Given the description of an element on the screen output the (x, y) to click on. 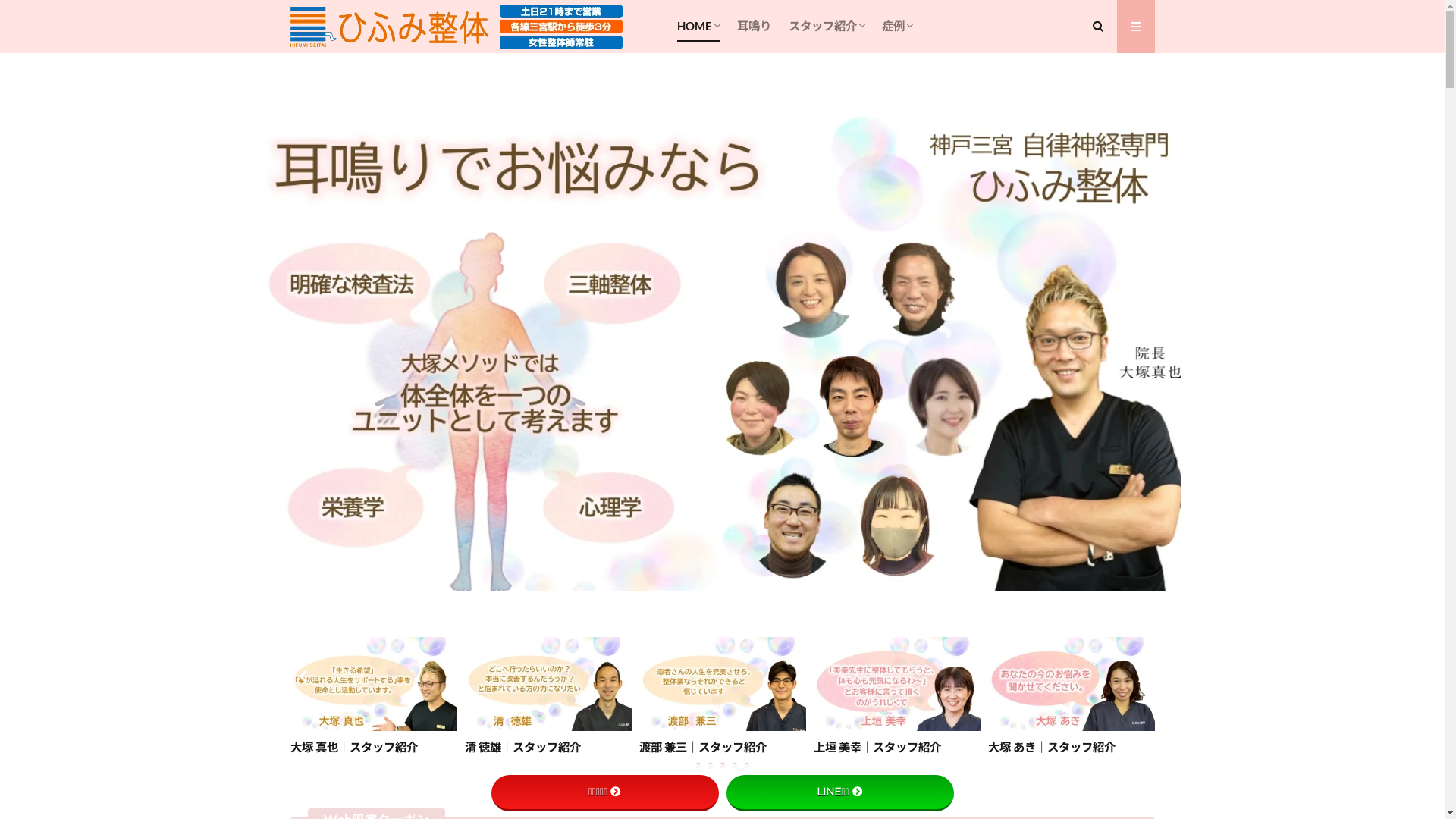
HOME Element type: text (697, 26)
search Element type: text (716, 160)
